Given the description of an element on the screen output the (x, y) to click on. 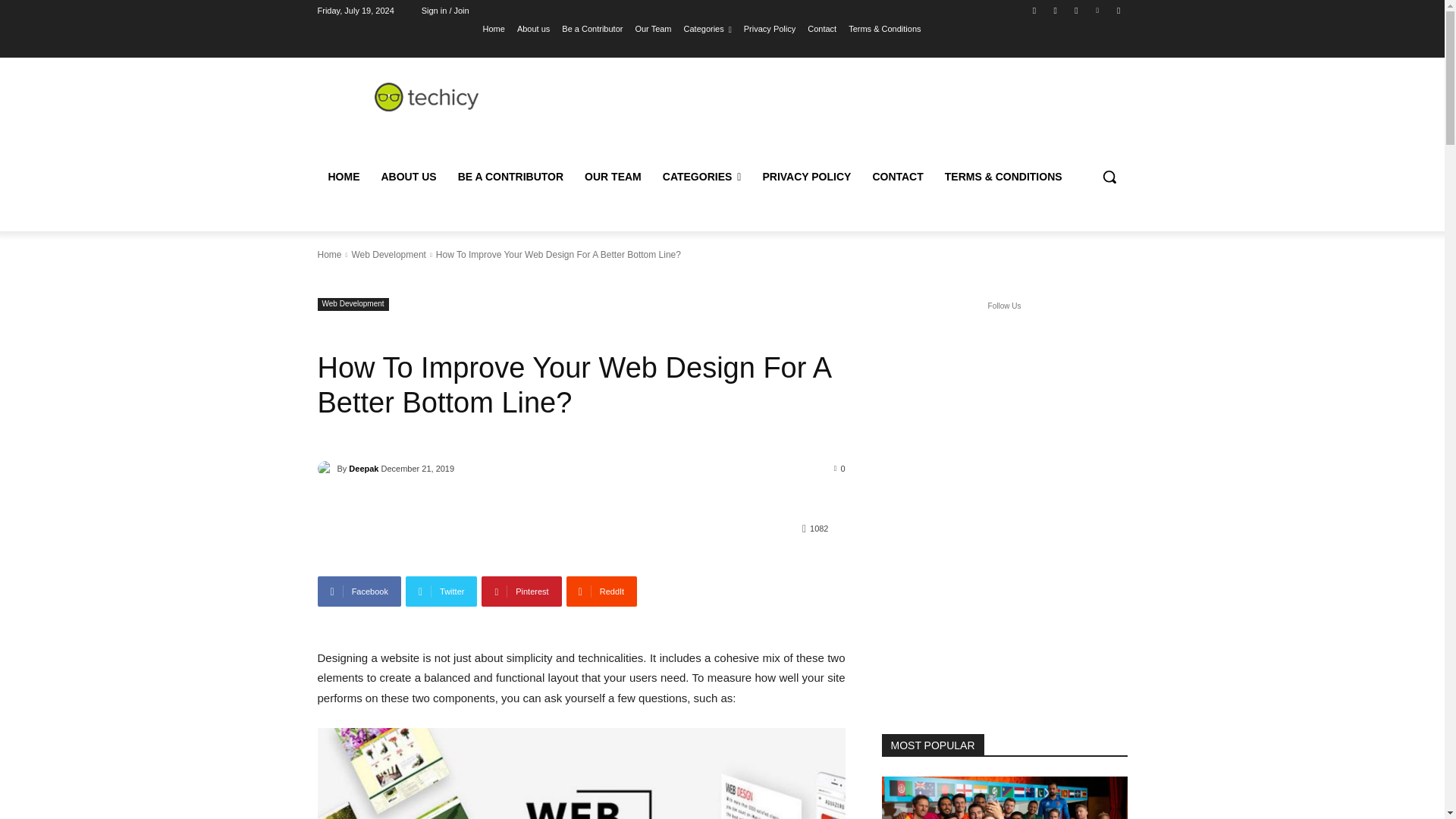
Our Team (652, 28)
Instagram (1055, 9)
Contact (821, 28)
Be a Contributor (592, 28)
Categories (708, 28)
Vimeo (1097, 9)
Privacy Policy (769, 28)
View all posts in Web Development (388, 254)
About us (533, 28)
Twitter (441, 591)
Twitter (1075, 9)
Deepak (326, 468)
Facebook (358, 591)
Home (494, 28)
Facebook (1034, 9)
